Given the description of an element on the screen output the (x, y) to click on. 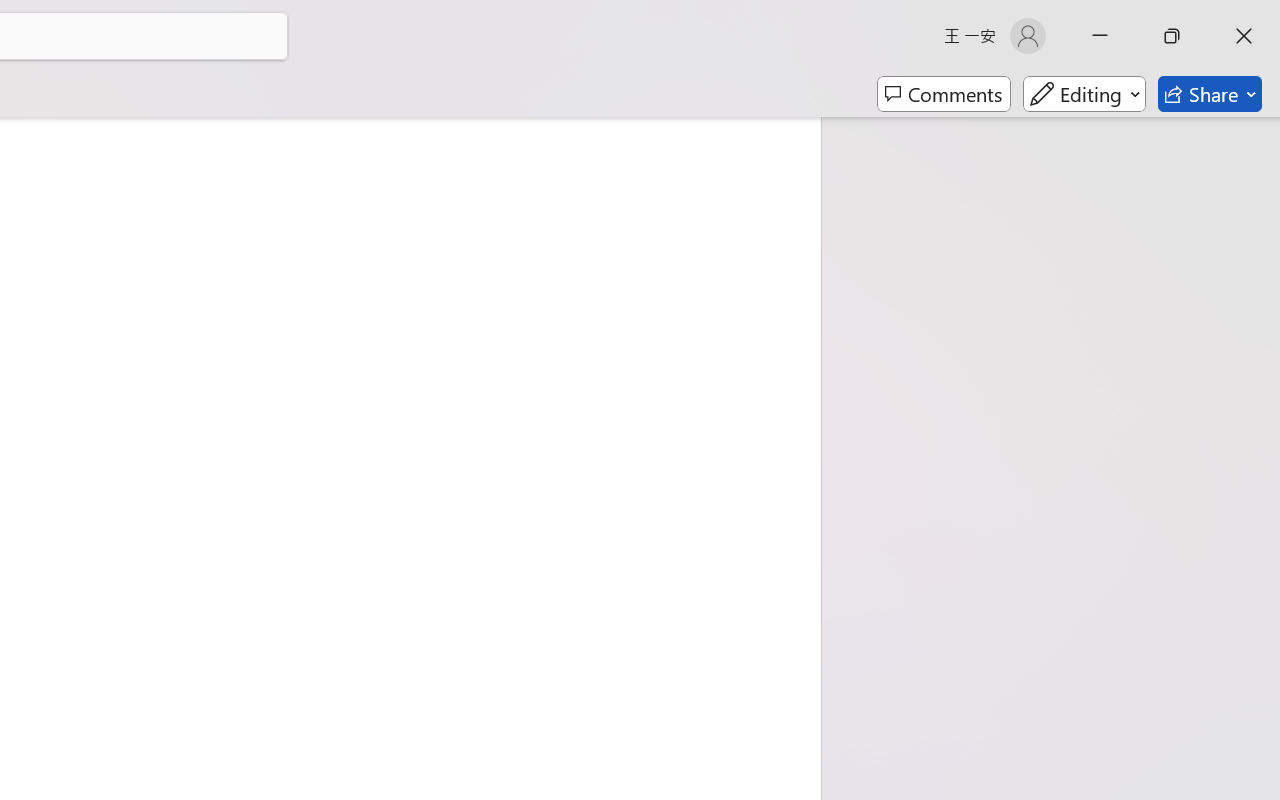
Restore Down (1172, 36)
Close (1244, 36)
Minimize (1099, 36)
Comments (943, 94)
Share (1210, 94)
Mode (1083, 94)
